Given the description of an element on the screen output the (x, y) to click on. 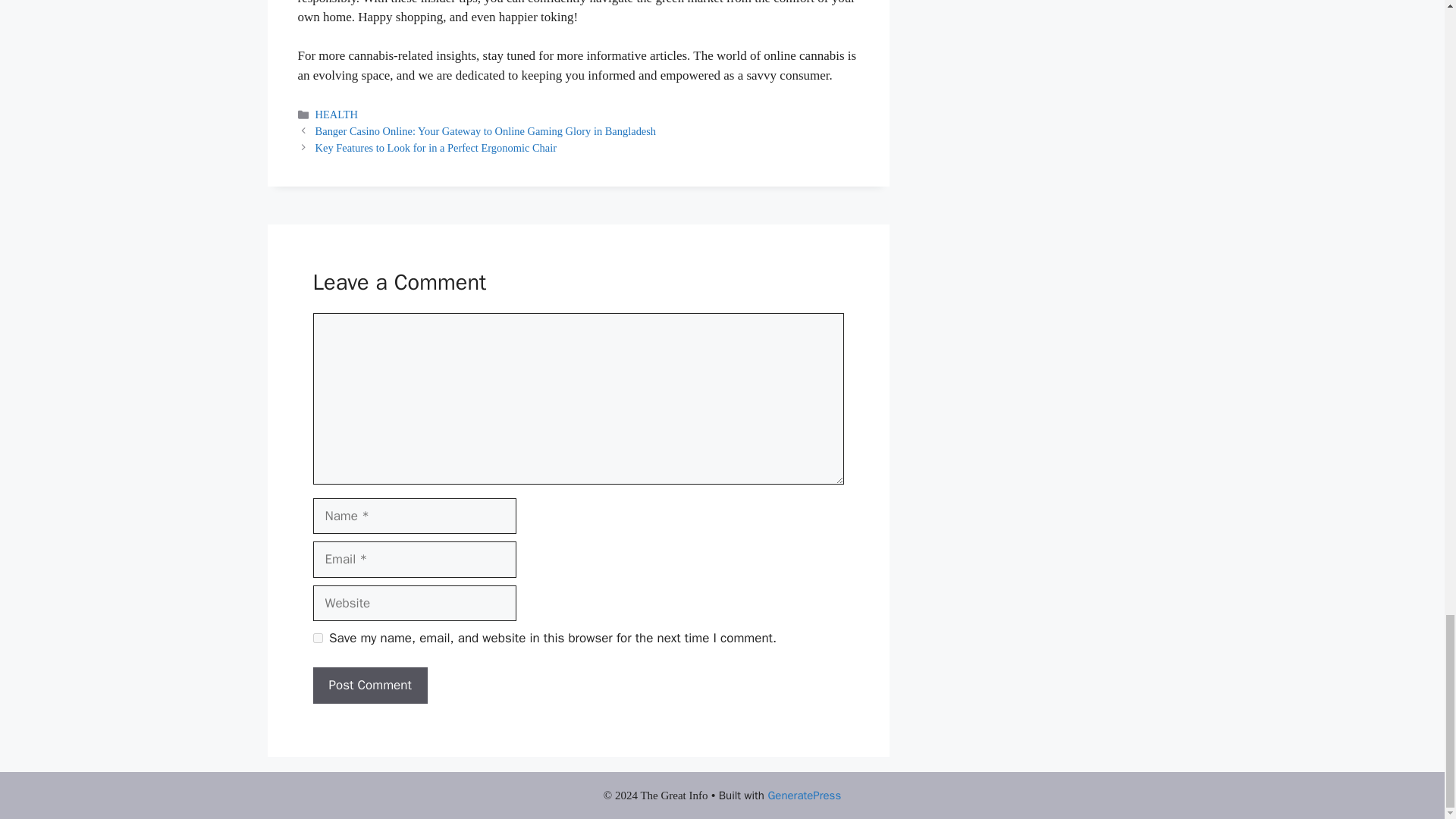
Post Comment (369, 685)
yes (317, 637)
Post Comment (369, 685)
HEALTH (336, 114)
Key Features to Look for in a Perfect Ergonomic Chair (435, 147)
